Given the description of an element on the screen output the (x, y) to click on. 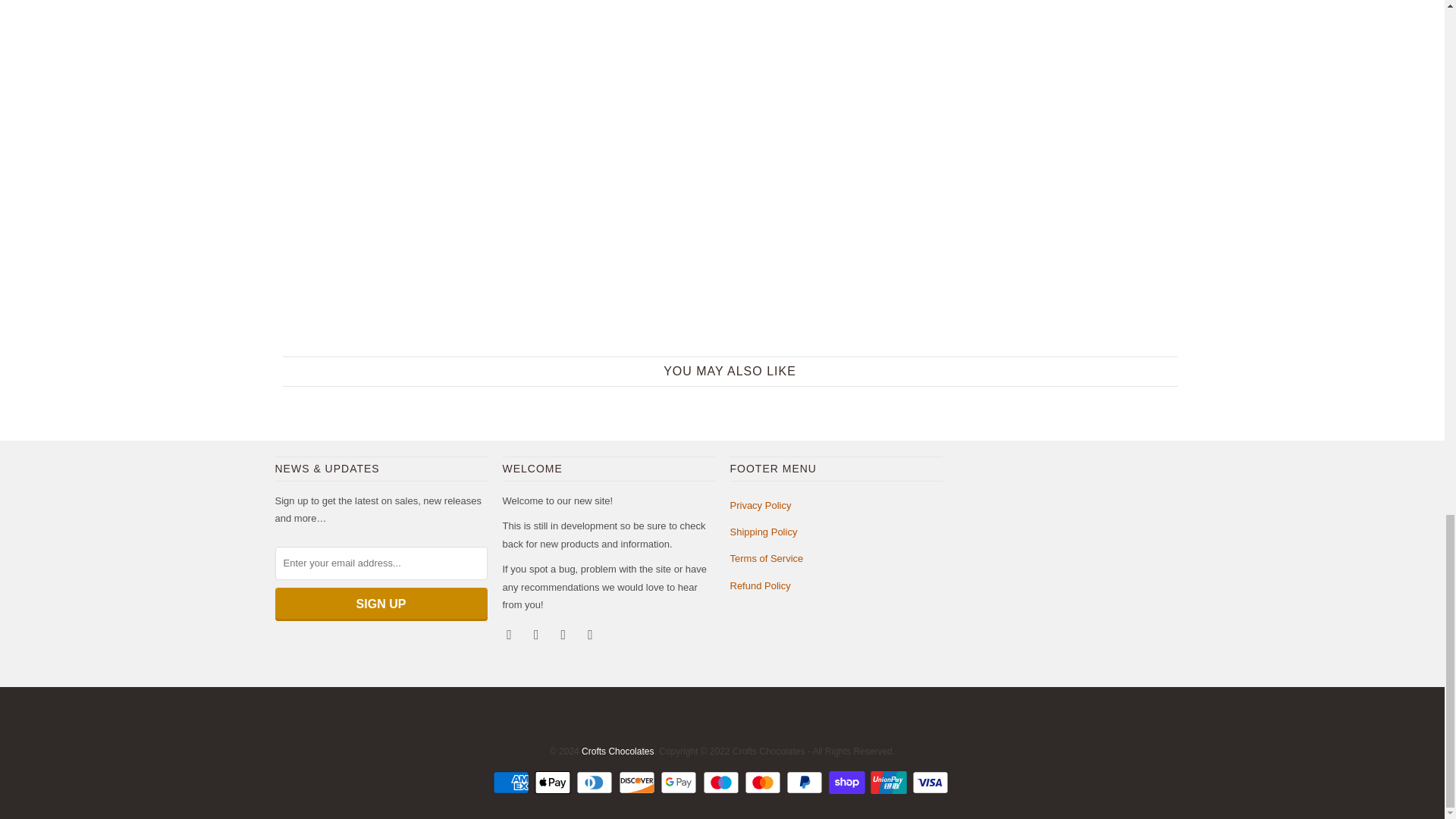
American Express (512, 782)
Visa (932, 782)
Google Pay (680, 782)
Discover (638, 782)
PayPal (805, 782)
Mastercard (764, 782)
Crofts Chocolates on Instagram (564, 633)
Diners Club (595, 782)
Union Pay (890, 782)
Apple Pay (553, 782)
